Given the description of an element on the screen output the (x, y) to click on. 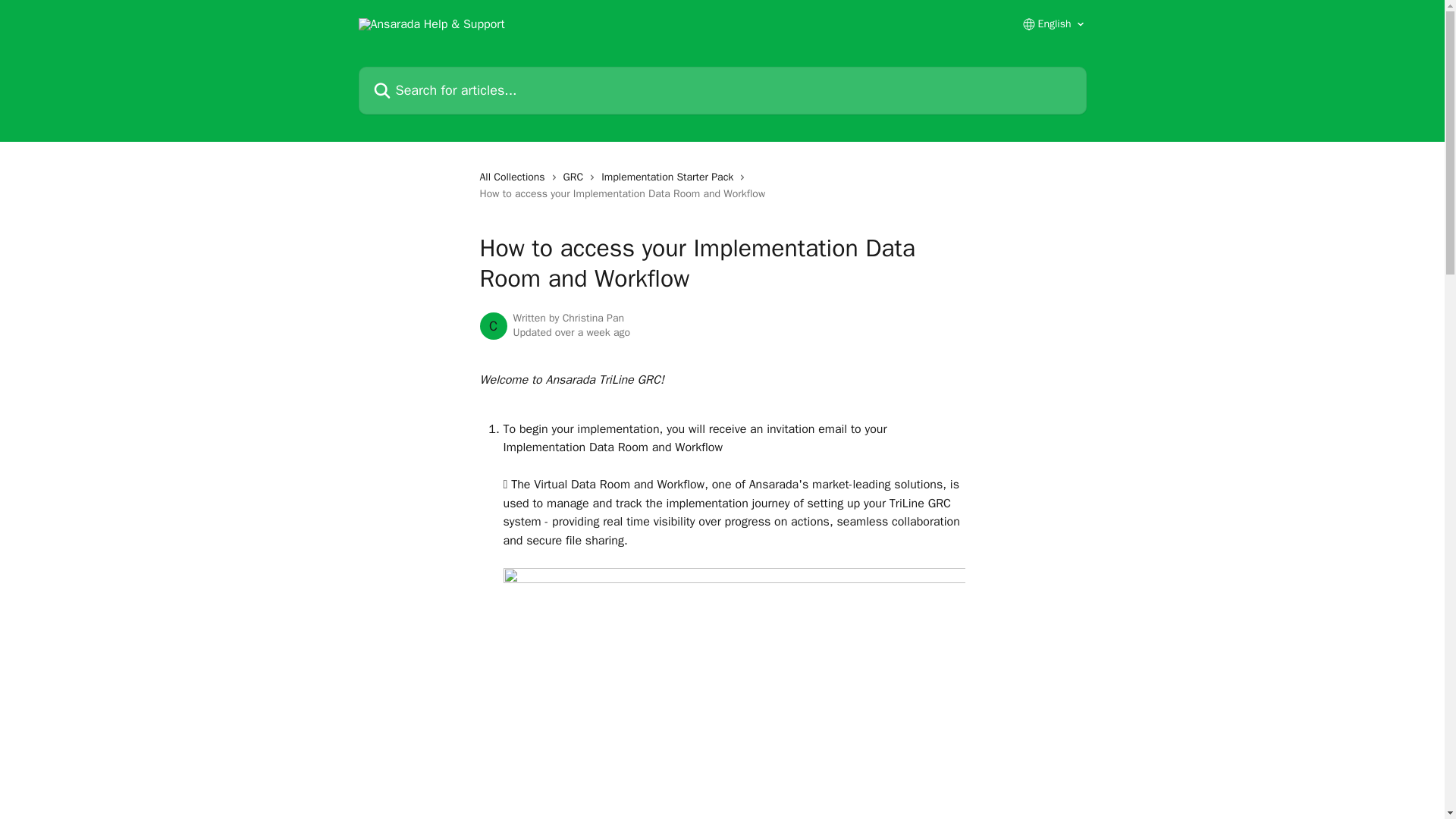
GRC (576, 176)
All Collections (514, 176)
Implementation Starter Pack (670, 176)
